Given the description of an element on the screen output the (x, y) to click on. 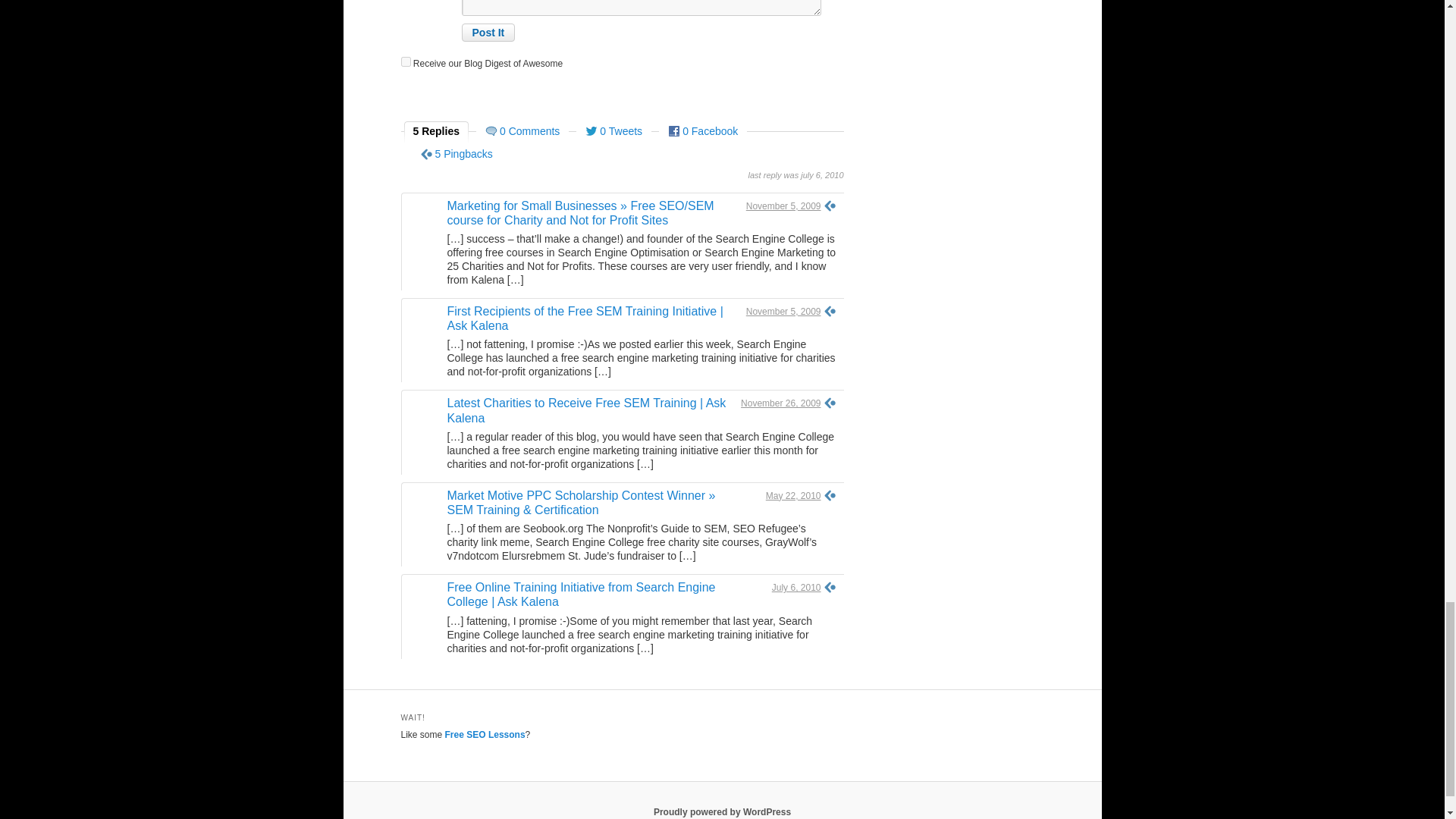
1 (405, 61)
Post It (488, 32)
